Given the description of an element on the screen output the (x, y) to click on. 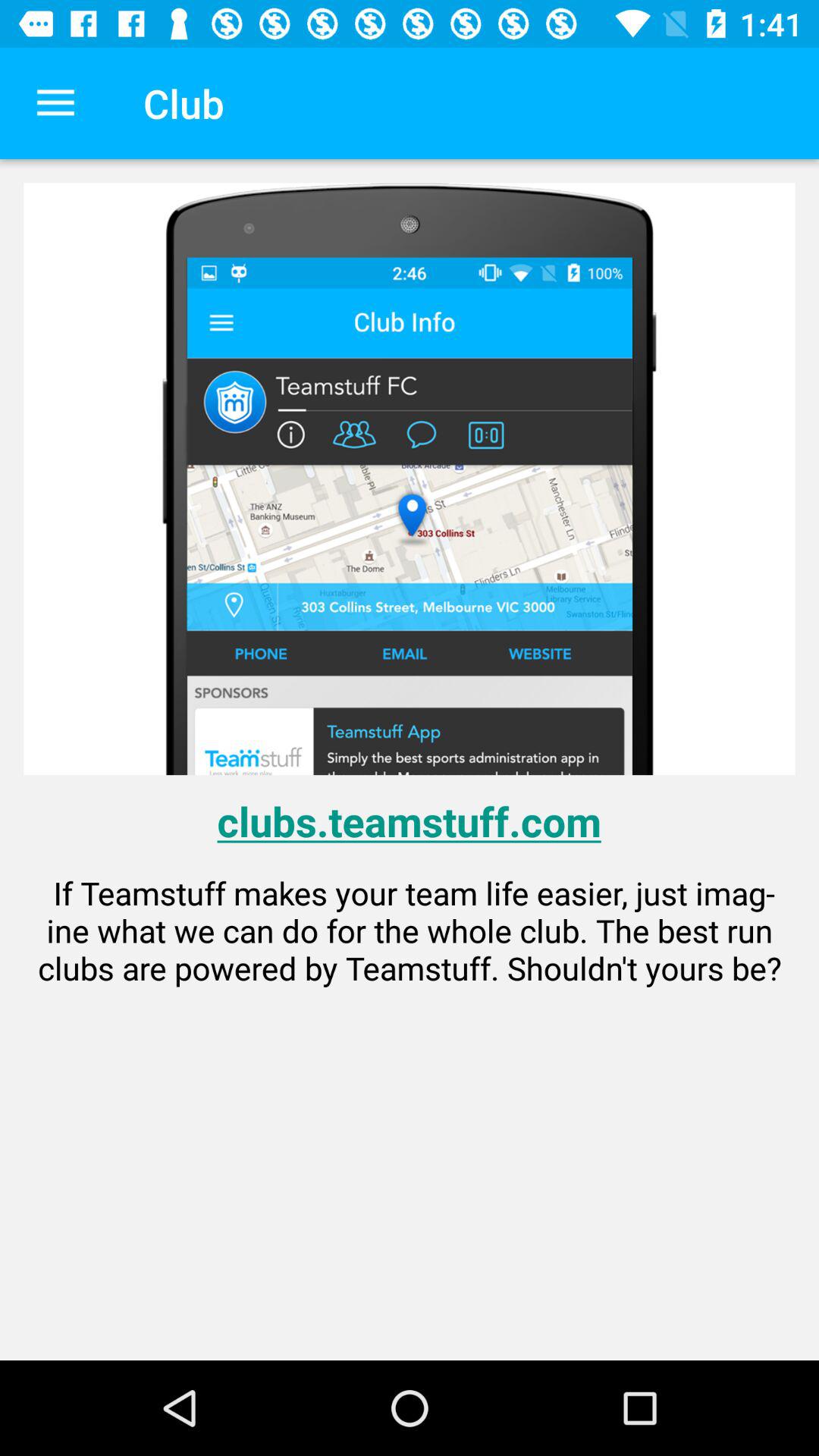
launch icon next to club item (55, 103)
